Given the description of an element on the screen output the (x, y) to click on. 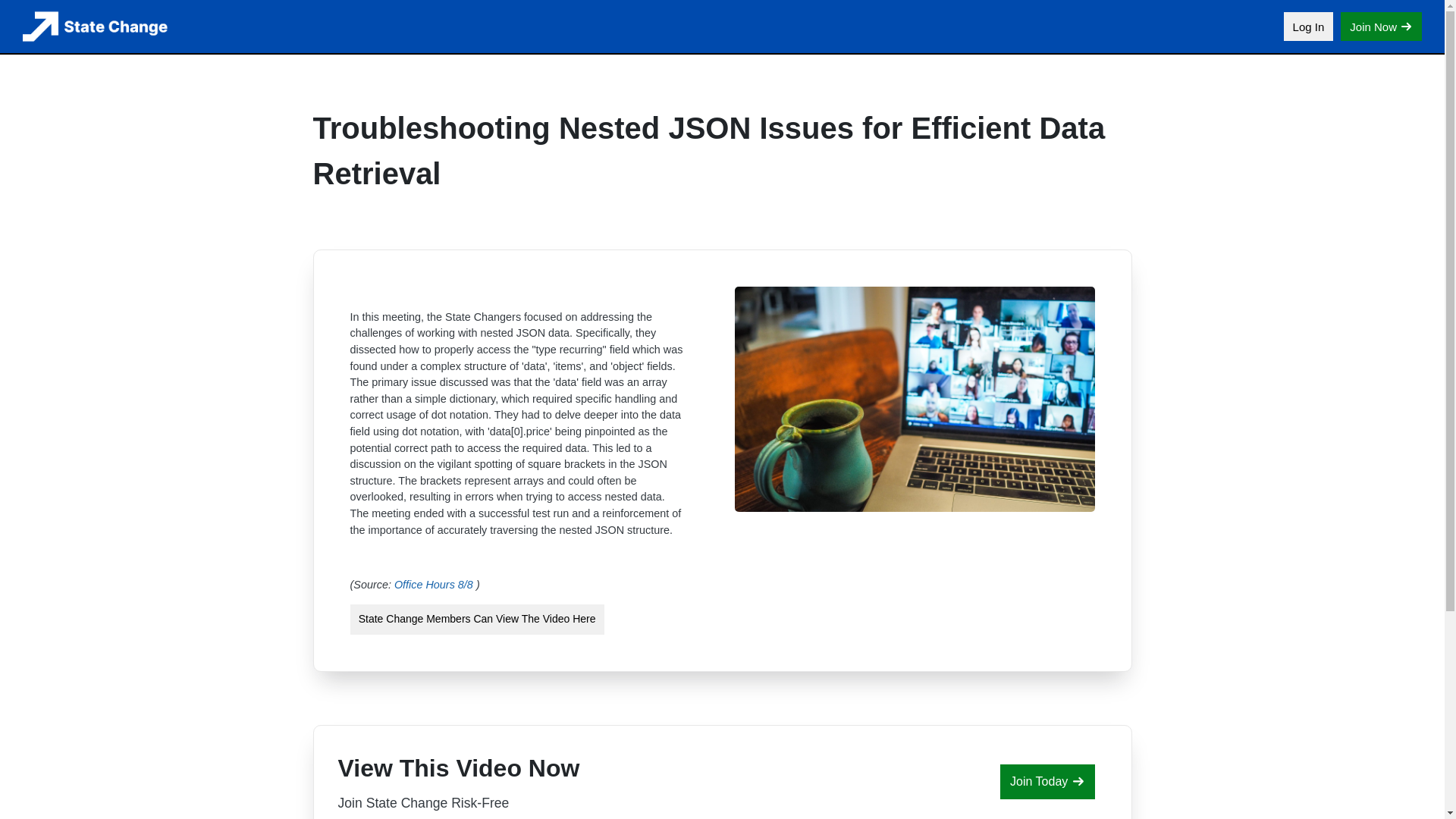
Log In (1308, 26)
Join Now (1381, 26)
Join Today (1047, 781)
State Change Members Can View The Video Here (477, 619)
